Given the description of an element on the screen output the (x, y) to click on. 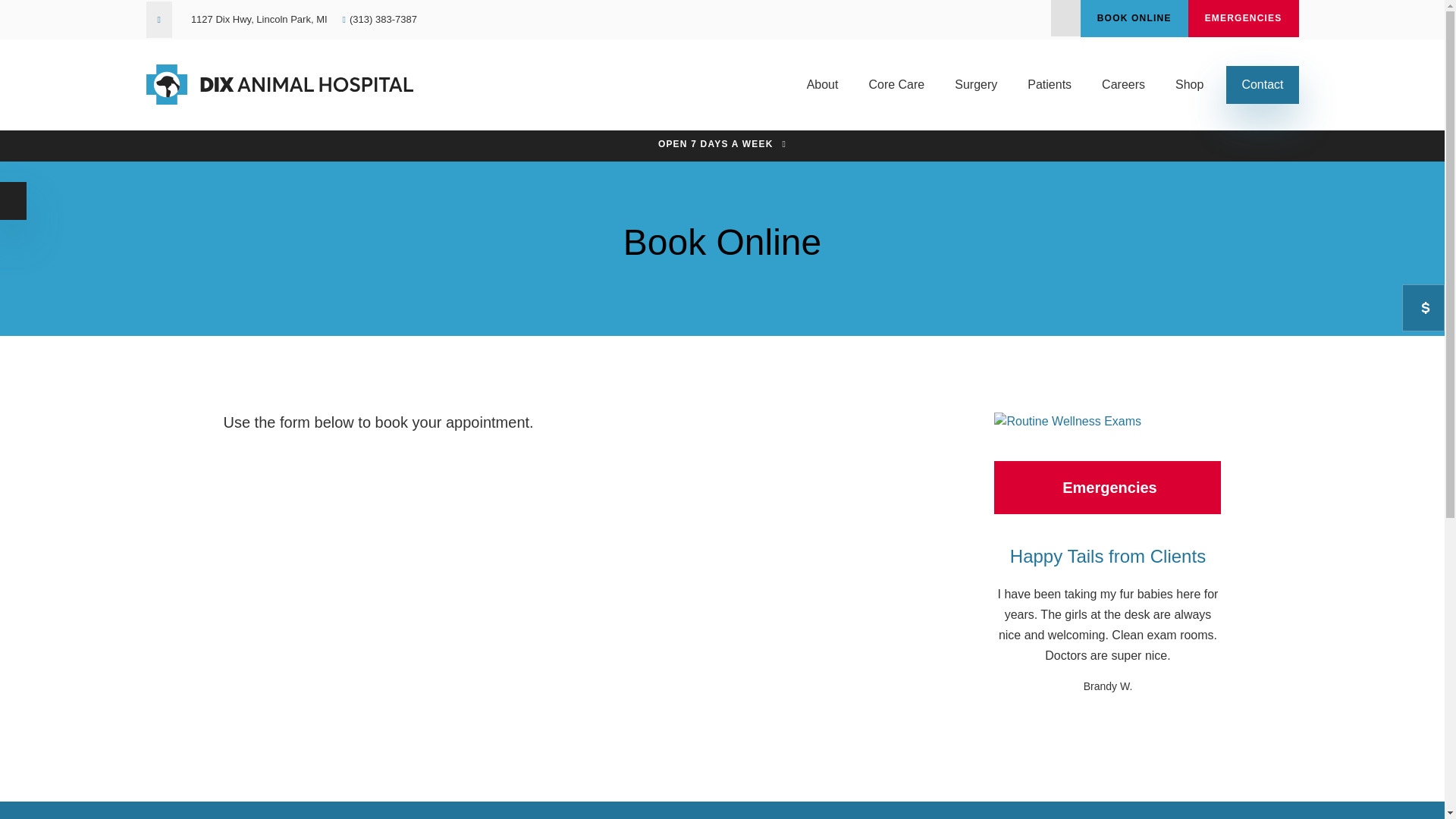
EMERGENCIES (1243, 18)
1127 Dix Hwy Lincoln Park MI (258, 19)
BOOK ONLINE (1134, 18)
